Given the description of an element on the screen output the (x, y) to click on. 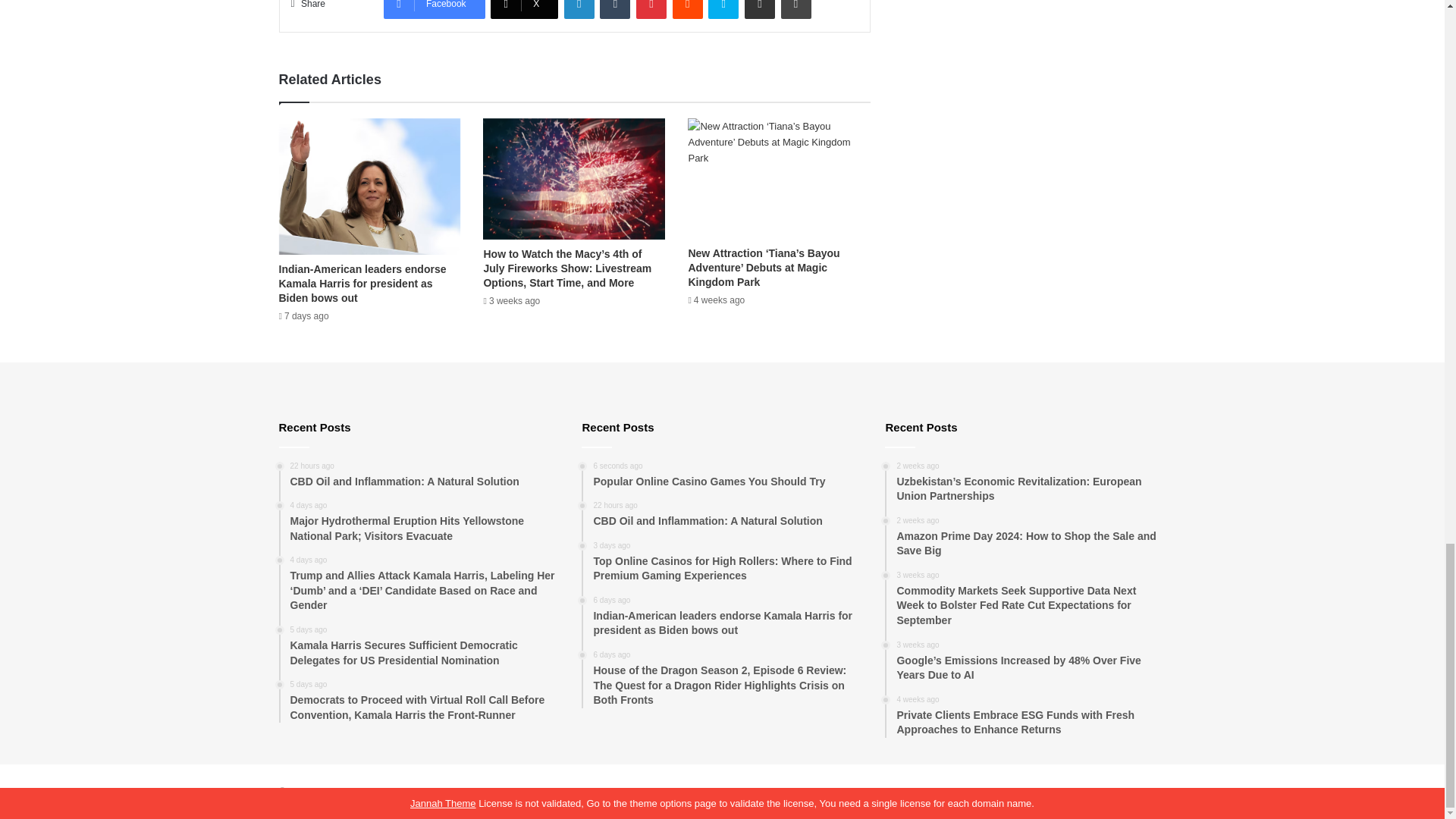
Tumblr (614, 9)
Reddit (687, 9)
Facebook (434, 9)
Skype (722, 9)
X (523, 9)
Facebook (434, 9)
Pinterest (651, 9)
Pinterest (651, 9)
Tumblr (614, 9)
LinkedIn (579, 9)
LinkedIn (579, 9)
Skype (722, 9)
X (523, 9)
Reddit (687, 9)
